Given the description of an element on the screen output the (x, y) to click on. 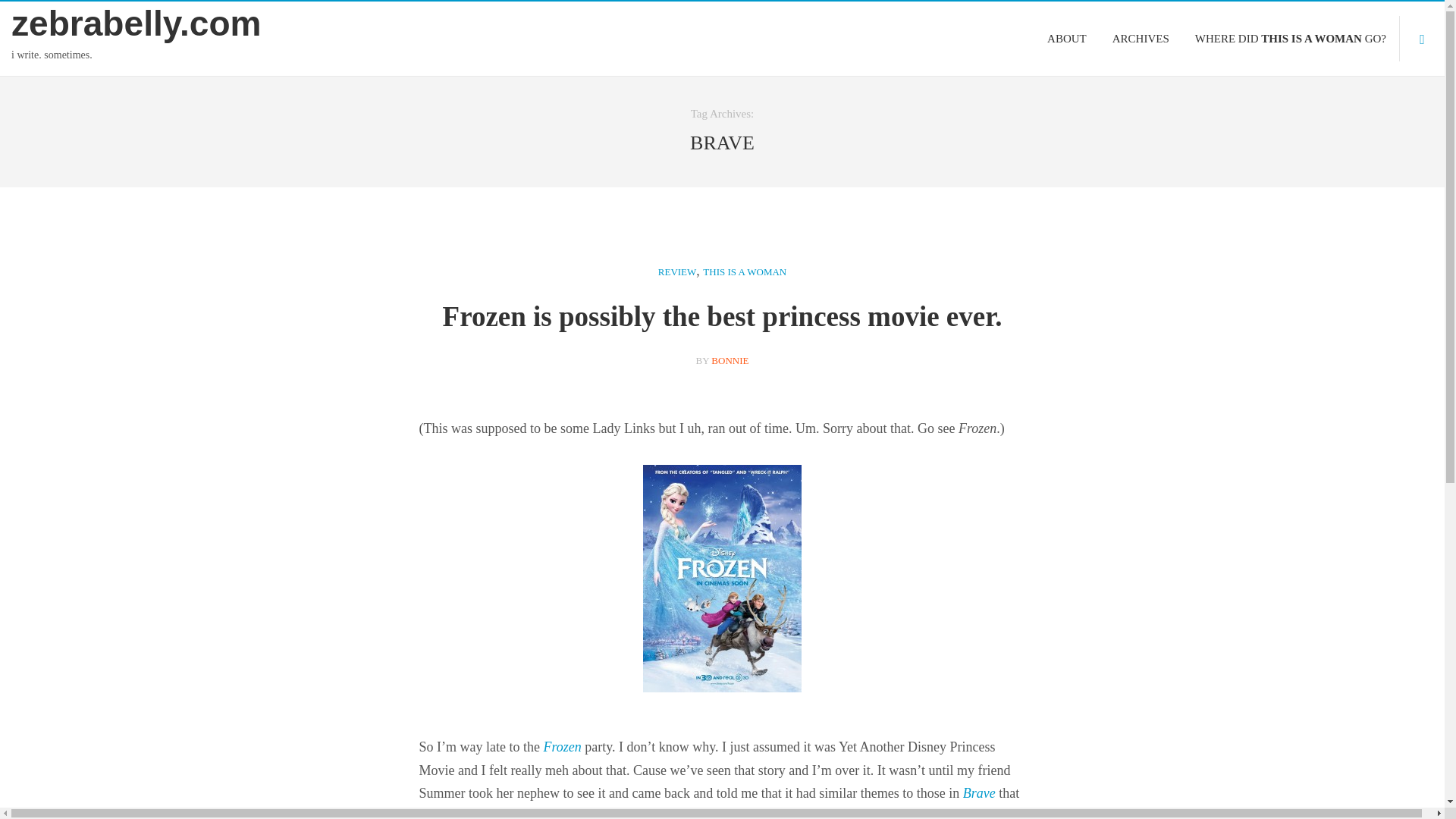
THIS IS A WOMAN (744, 272)
REVIEW (677, 272)
BONNIE (729, 360)
Frozen is possibly the best princess movie ever. (722, 316)
ARCHIVES (1140, 38)
WHERE DID THIS IS A WOMAN GO? (1290, 38)
zebrabelly.com (180, 23)
Frozen (561, 746)
ABOUT (1066, 38)
Brave (978, 792)
